Given the description of an element on the screen output the (x, y) to click on. 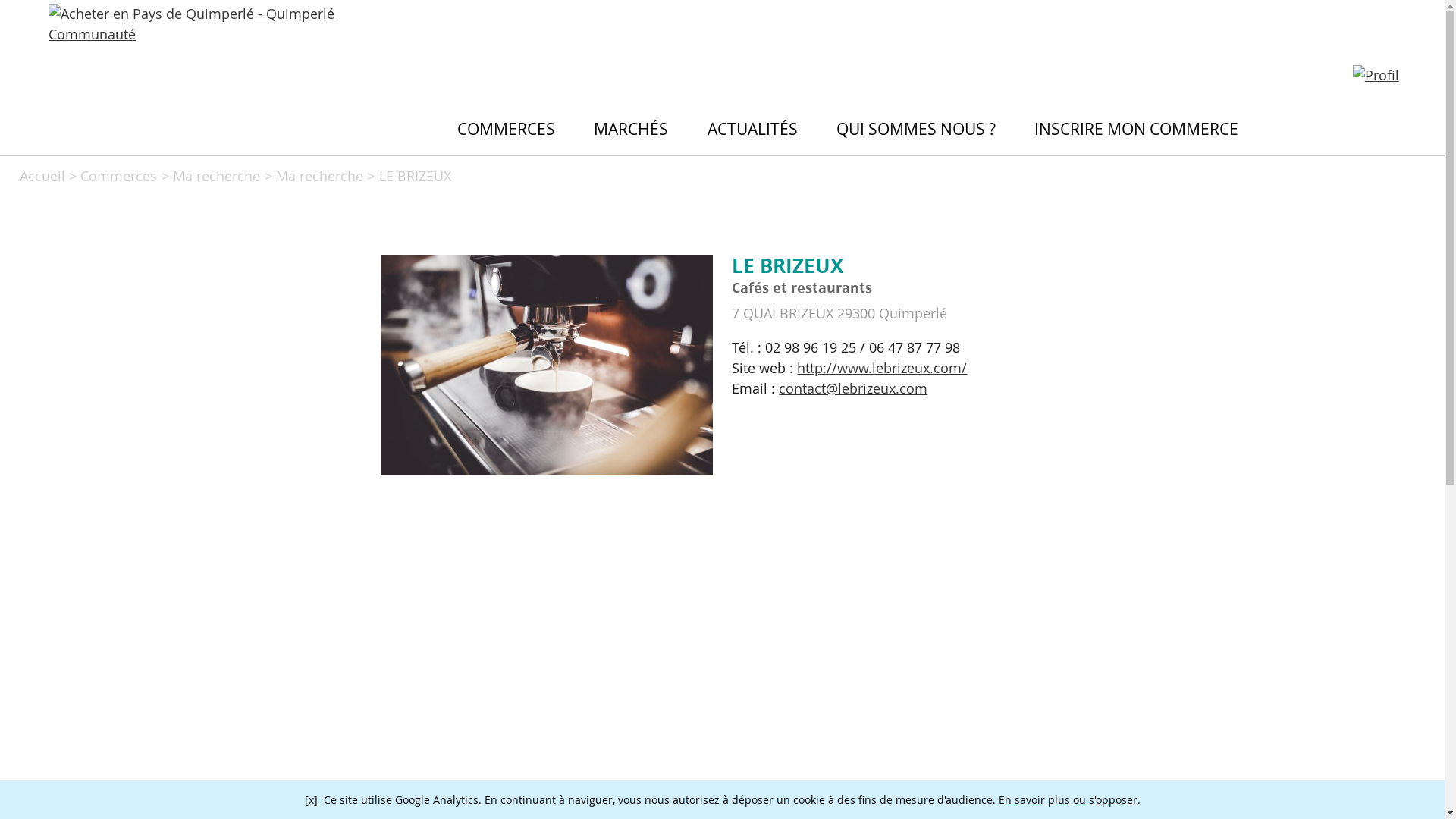
Accueil Element type: text (42, 175)
Ma recherche Element type: text (216, 175)
contact@lebrizeux.com Element type: text (852, 388)
Ma recherche Element type: text (319, 175)
Profil utilisateur Element type: hover (1375, 77)
Commerces Element type: text (118, 175)
[x] Element type: text (310, 799)
http://www.lebrizeux.com/ Element type: text (881, 367)
En savoir plus ou s'opposer Element type: text (1066, 799)
COMMERCES Element type: text (505, 129)
QUI SOMMES NOUS ? Element type: text (915, 129)
INSCRIRE MON COMMERCE Element type: text (1136, 129)
